Given the description of an element on the screen output the (x, y) to click on. 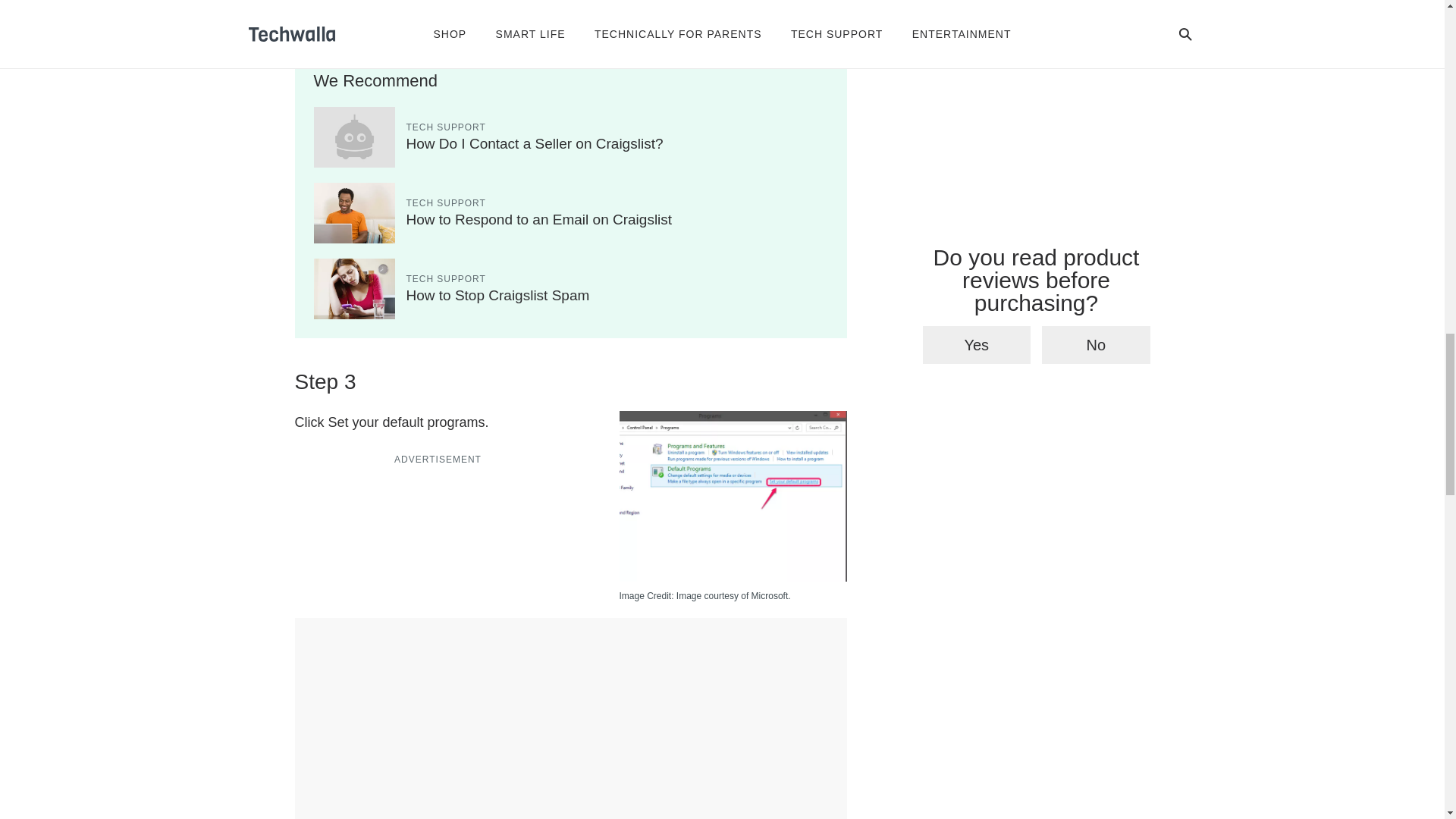
How to Stop Craigslist Spam (497, 295)
How to Respond to an Email on Craigslist (539, 219)
How Do I Contact a Seller on Craigslist? (534, 143)
